Given the description of an element on the screen output the (x, y) to click on. 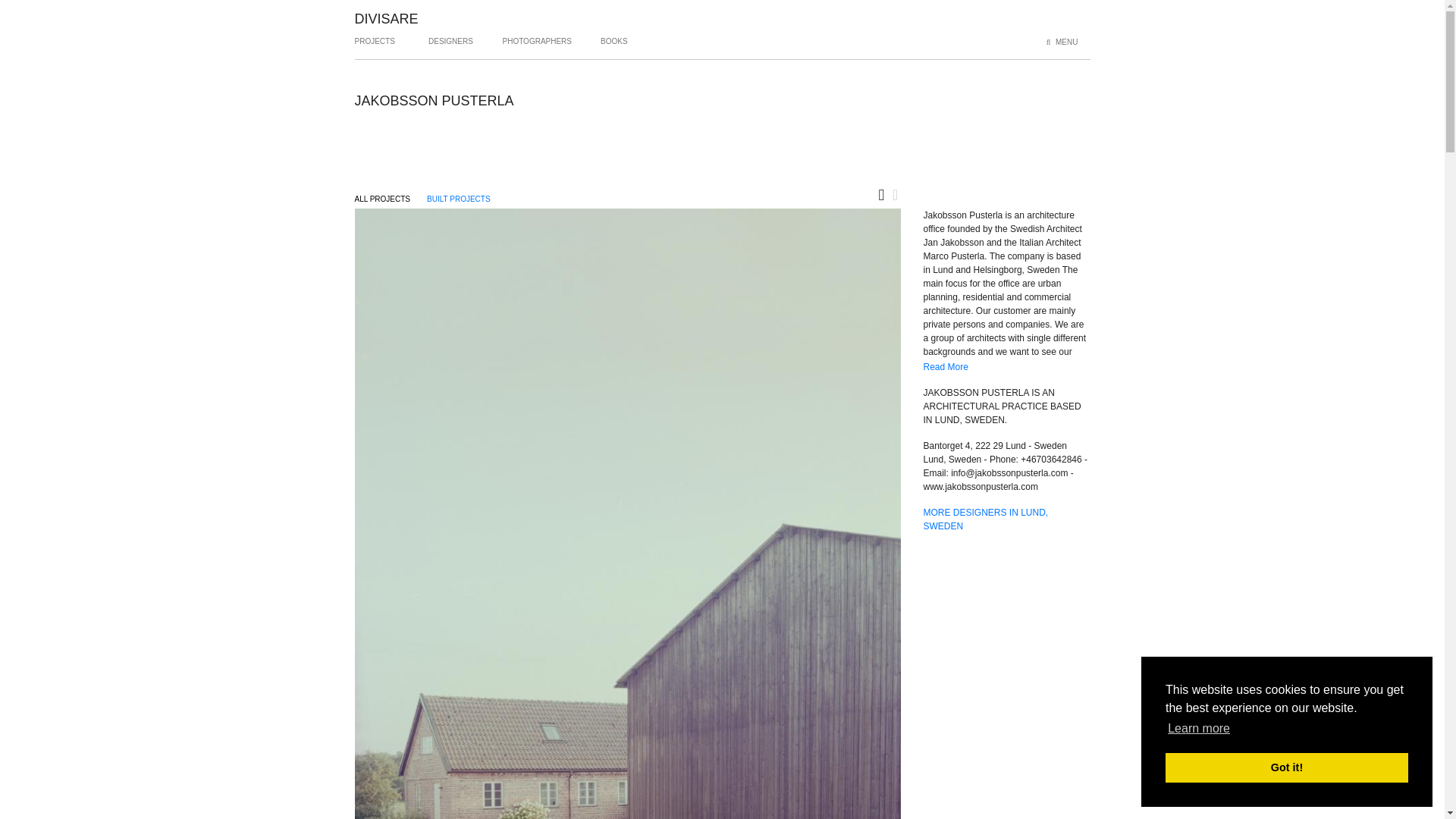
Learn more (1198, 728)
PROJECTS (374, 46)
Got it! (1286, 767)
DIVISARE (387, 18)
